Given the description of an element on the screen output the (x, y) to click on. 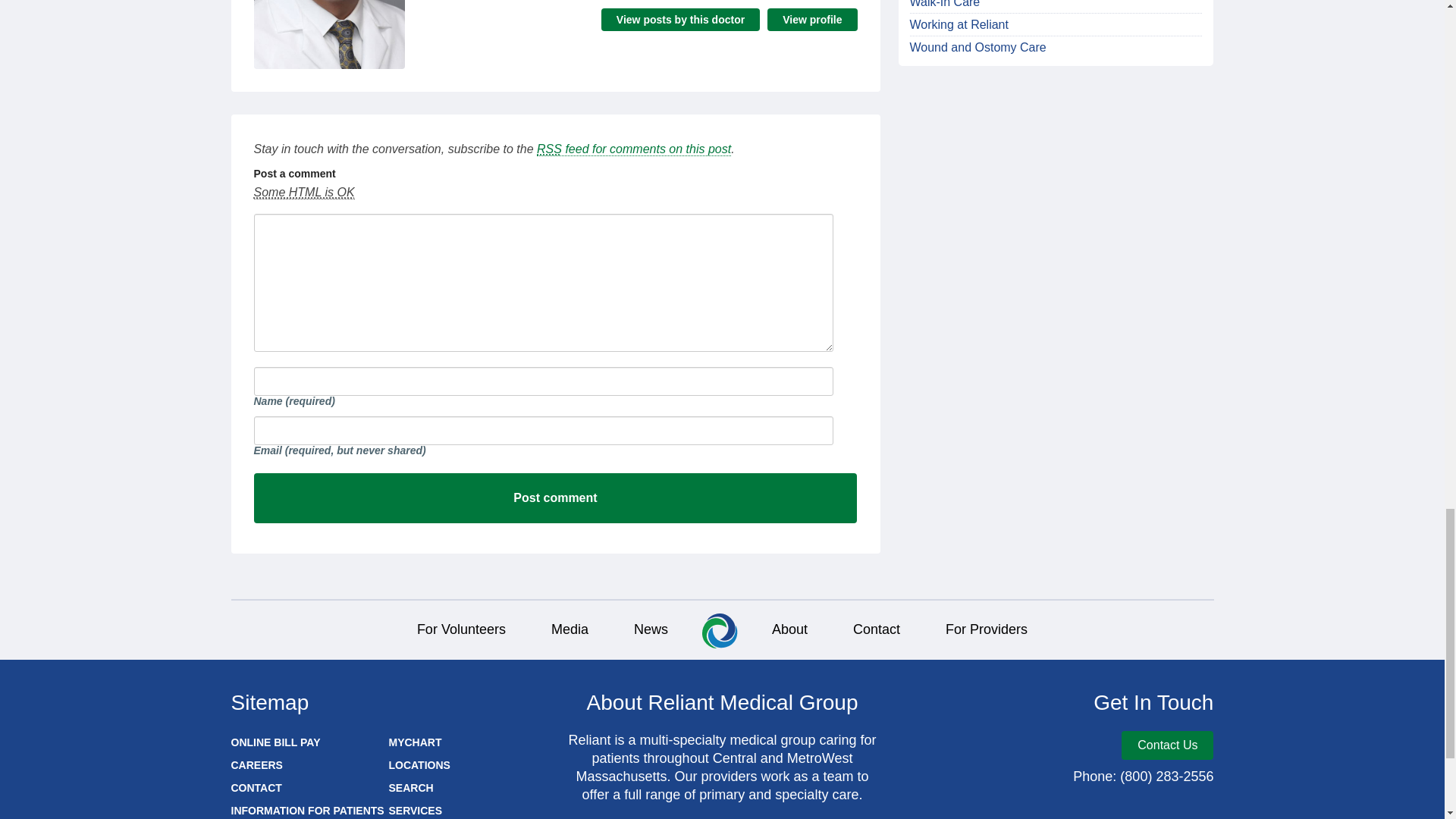
Post comment (555, 498)
Really Simple Syndication (549, 148)
